Given the description of an element on the screen output the (x, y) to click on. 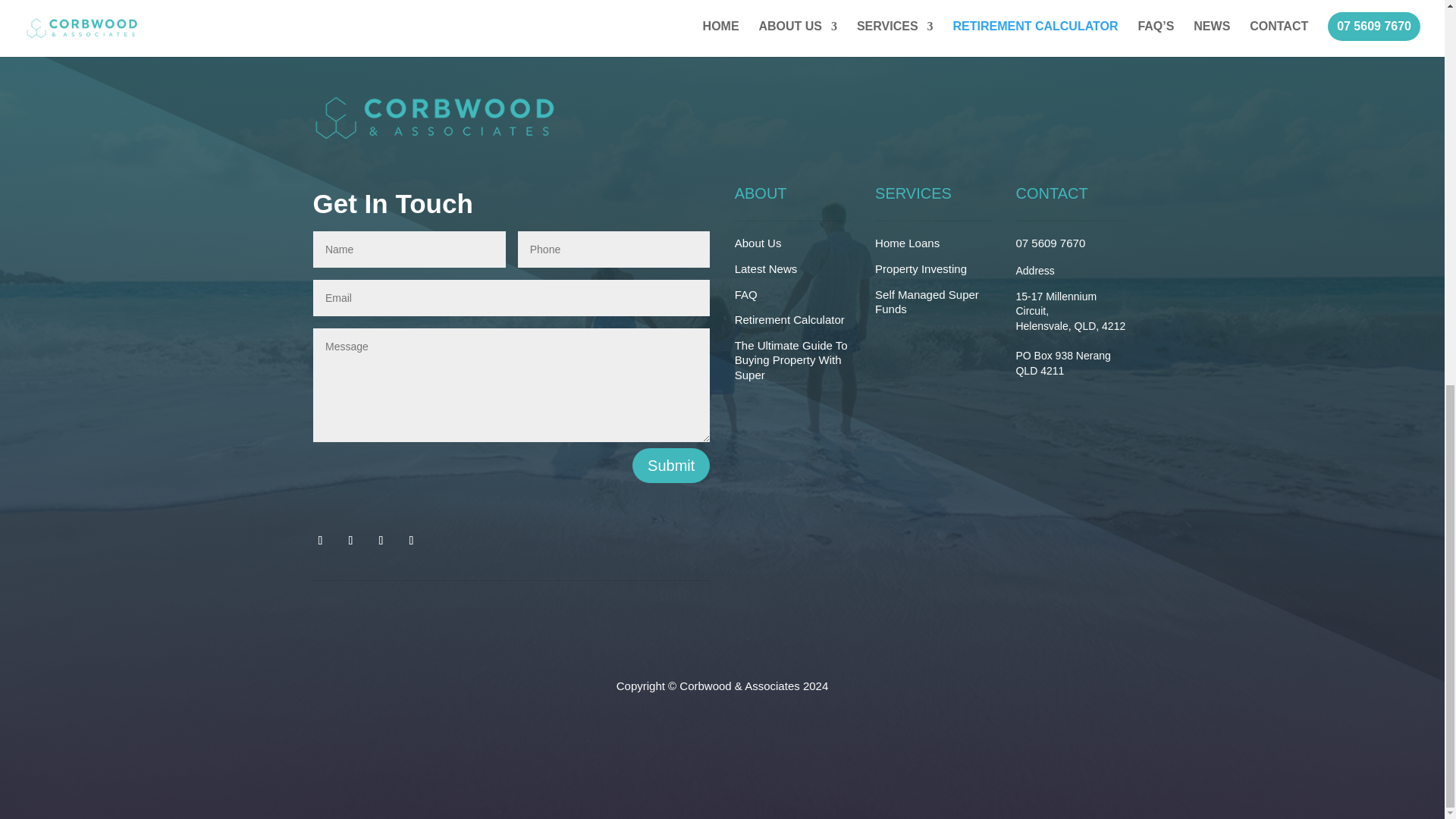
FAQ (746, 294)
logonew365x100 (433, 118)
Follow on Facebook (319, 540)
Submit (670, 465)
Follow on Youtube (410, 540)
About Us (758, 242)
Latest News (766, 268)
Home Loans (907, 242)
Follow on LinkedIn (380, 540)
Minimum length: 8 characters. Maximum length: 10 characters. (614, 248)
